Given the description of an element on the screen output the (x, y) to click on. 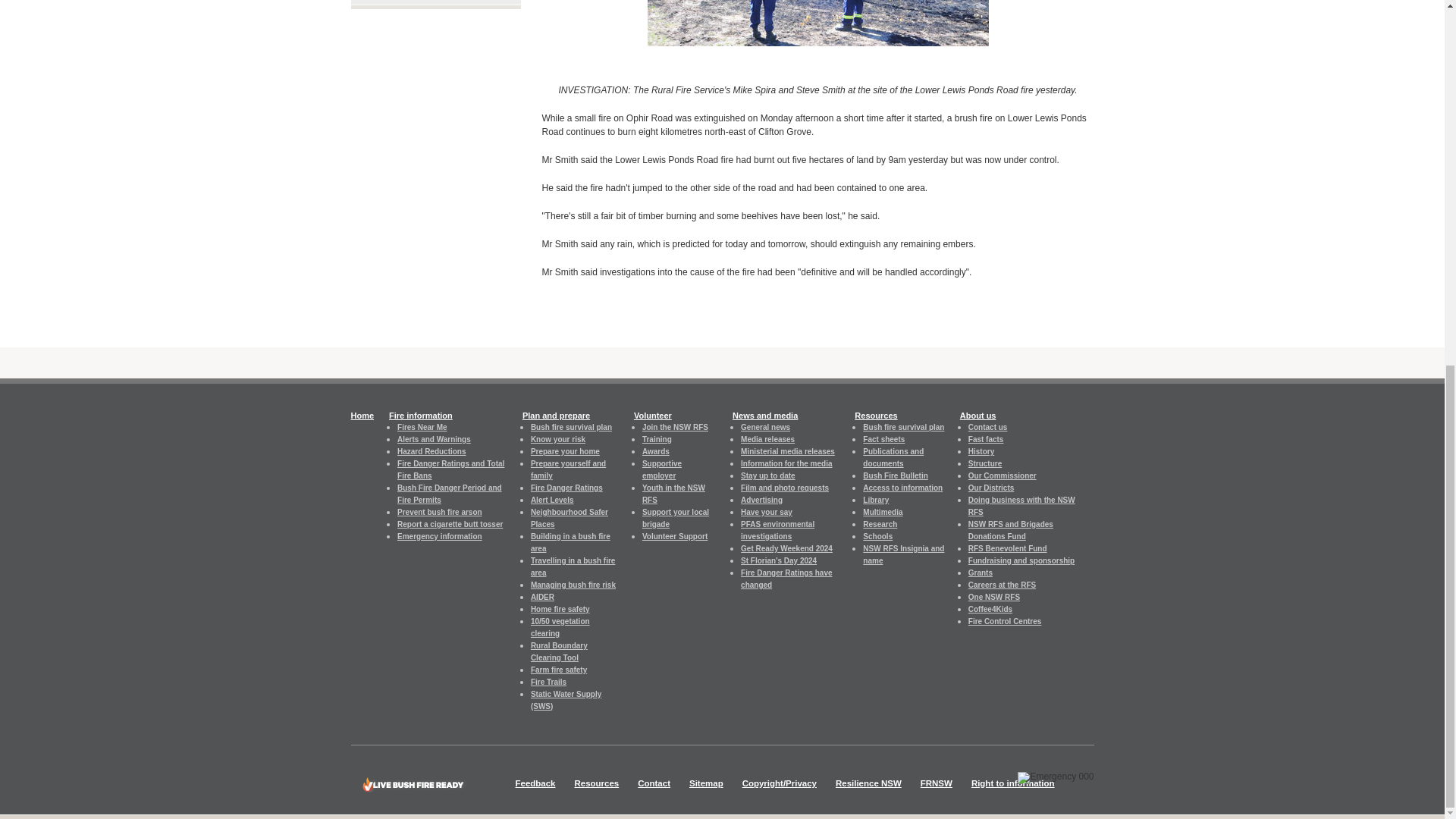
Twitter (1004, 364)
Youtube (1070, 364)
Rich Site Summary (1035, 364)
Facebook (977, 364)
